Given the description of an element on the screen output the (x, y) to click on. 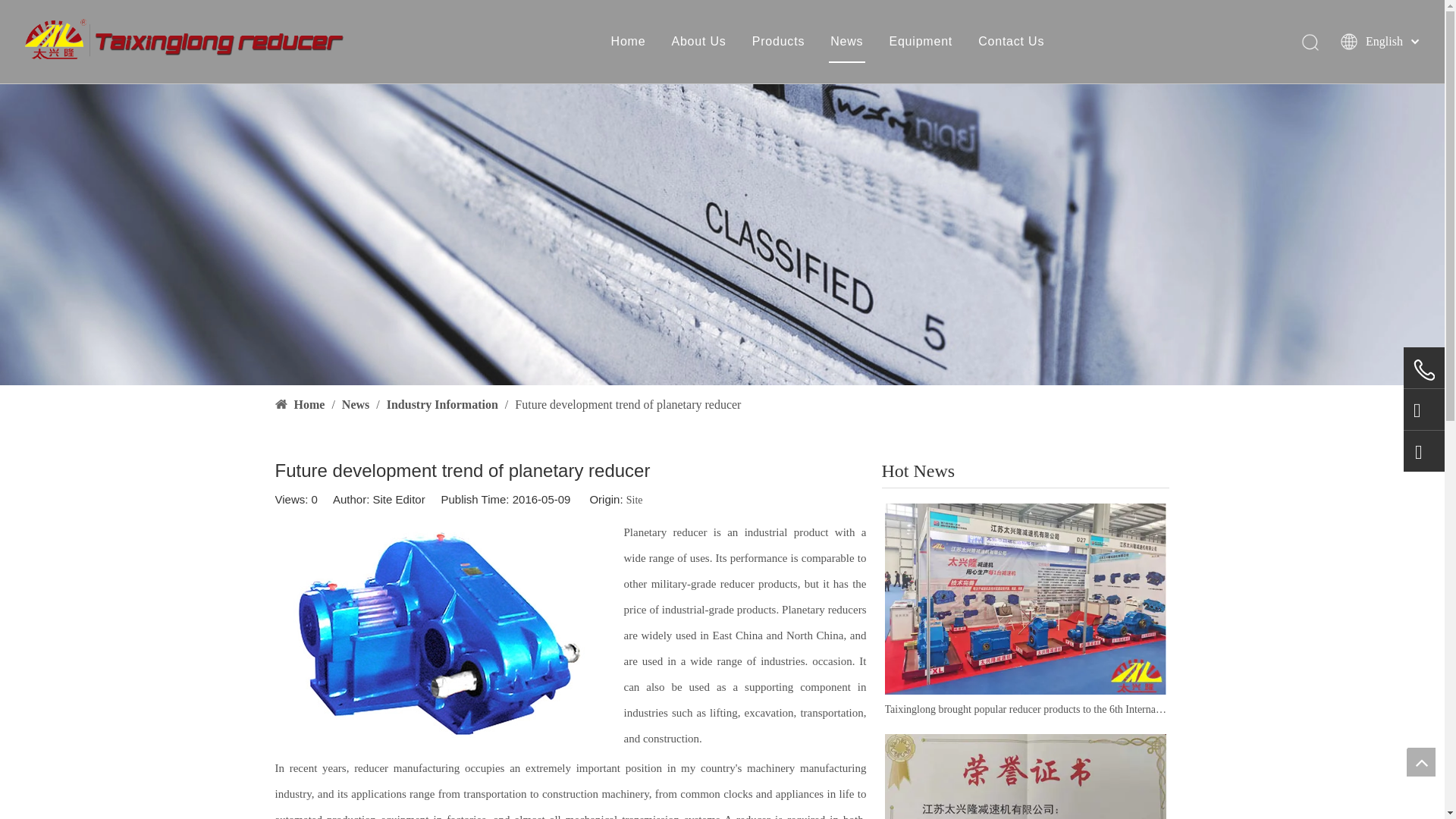
Site (634, 500)
News (357, 404)
News (846, 41)
Products (778, 41)
About Us (698, 41)
Equipment (920, 41)
Home (628, 41)
Home (311, 404)
Industry Information (443, 404)
Contact Us (1010, 41)
